Given the description of an element on the screen output the (x, y) to click on. 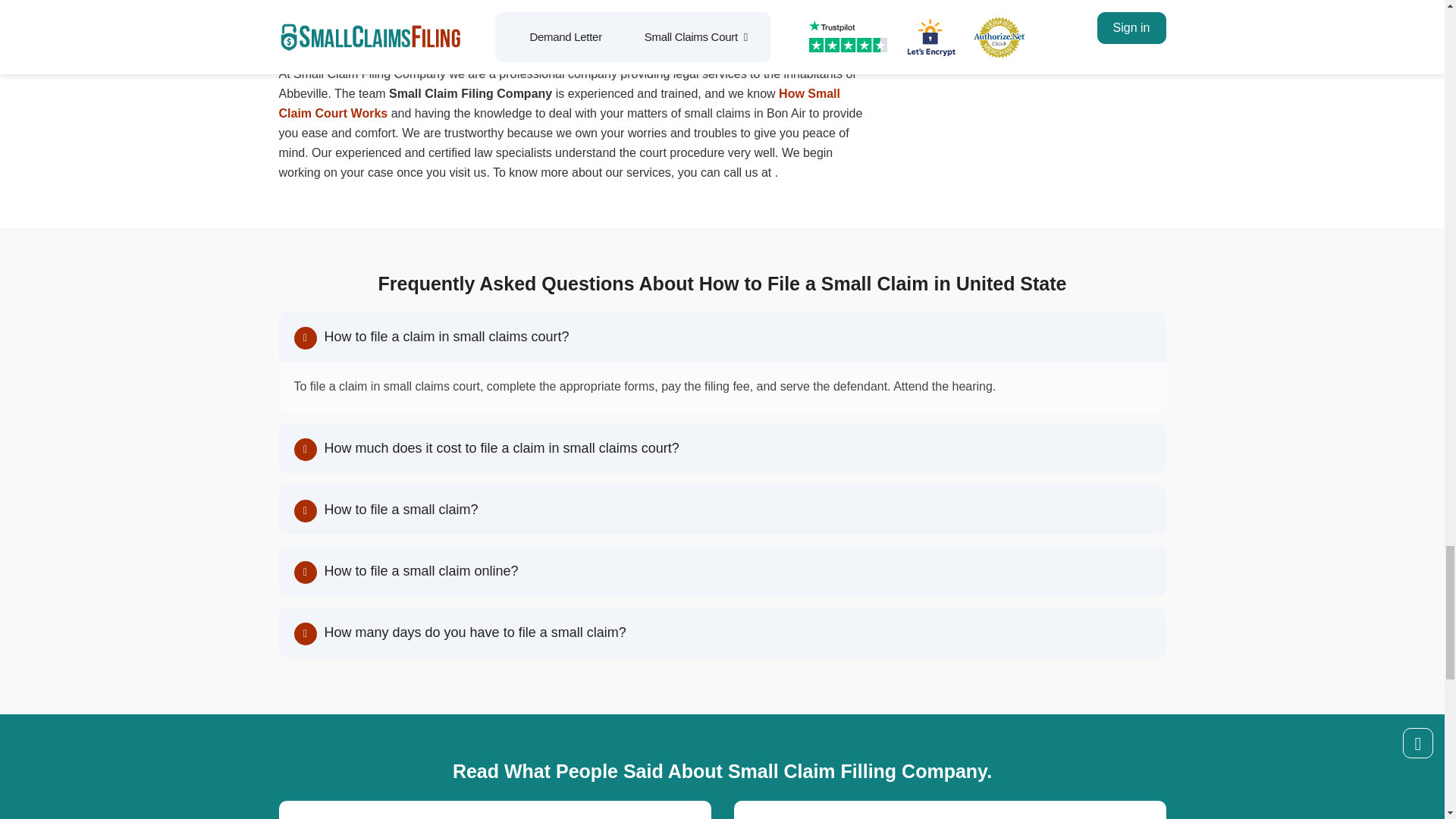
How Small Claim Court Works (559, 102)
